Given the description of an element on the screen output the (x, y) to click on. 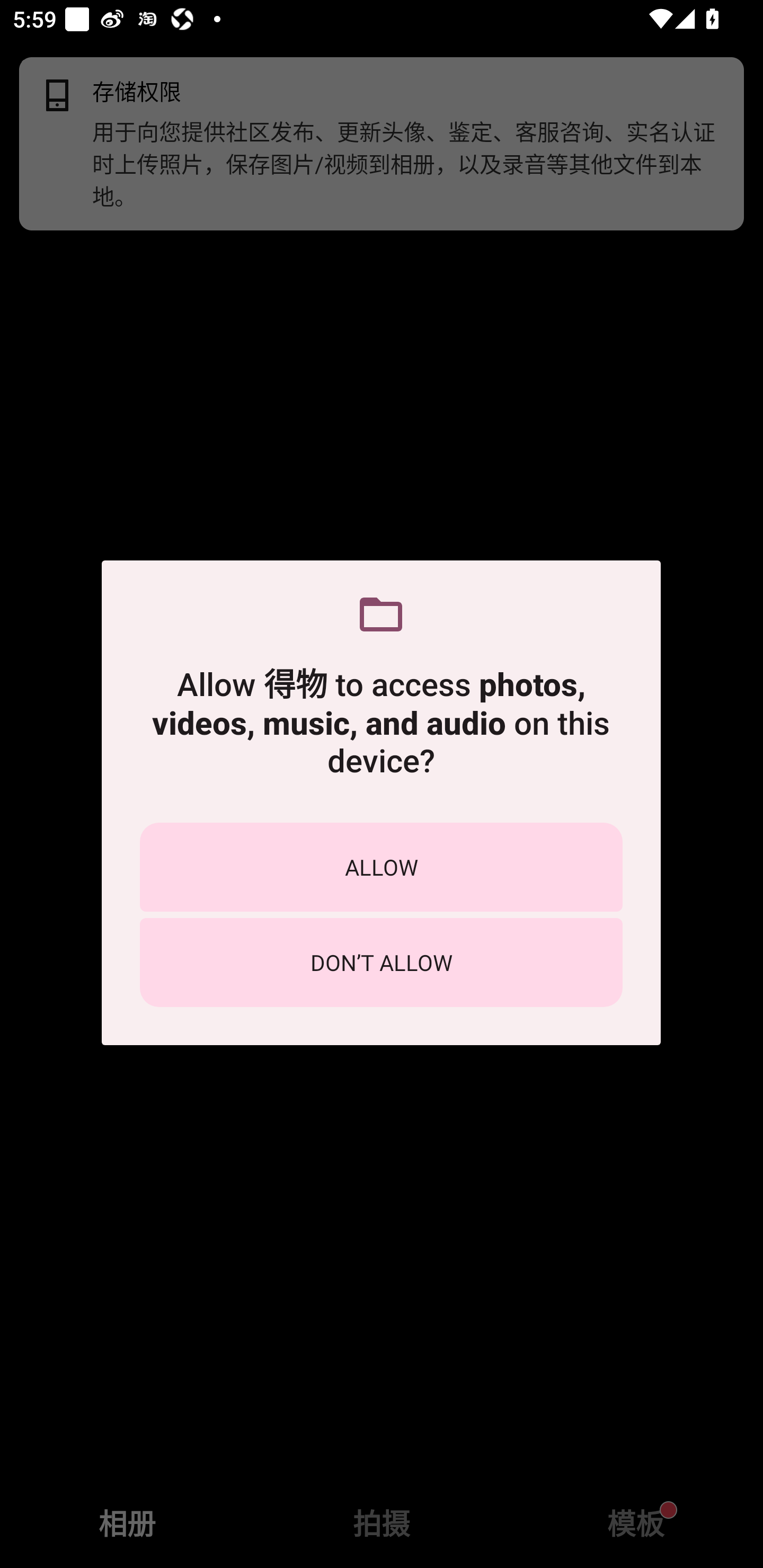
ALLOW (380, 867)
DON’T ALLOW (380, 961)
